Given the description of an element on the screen output the (x, y) to click on. 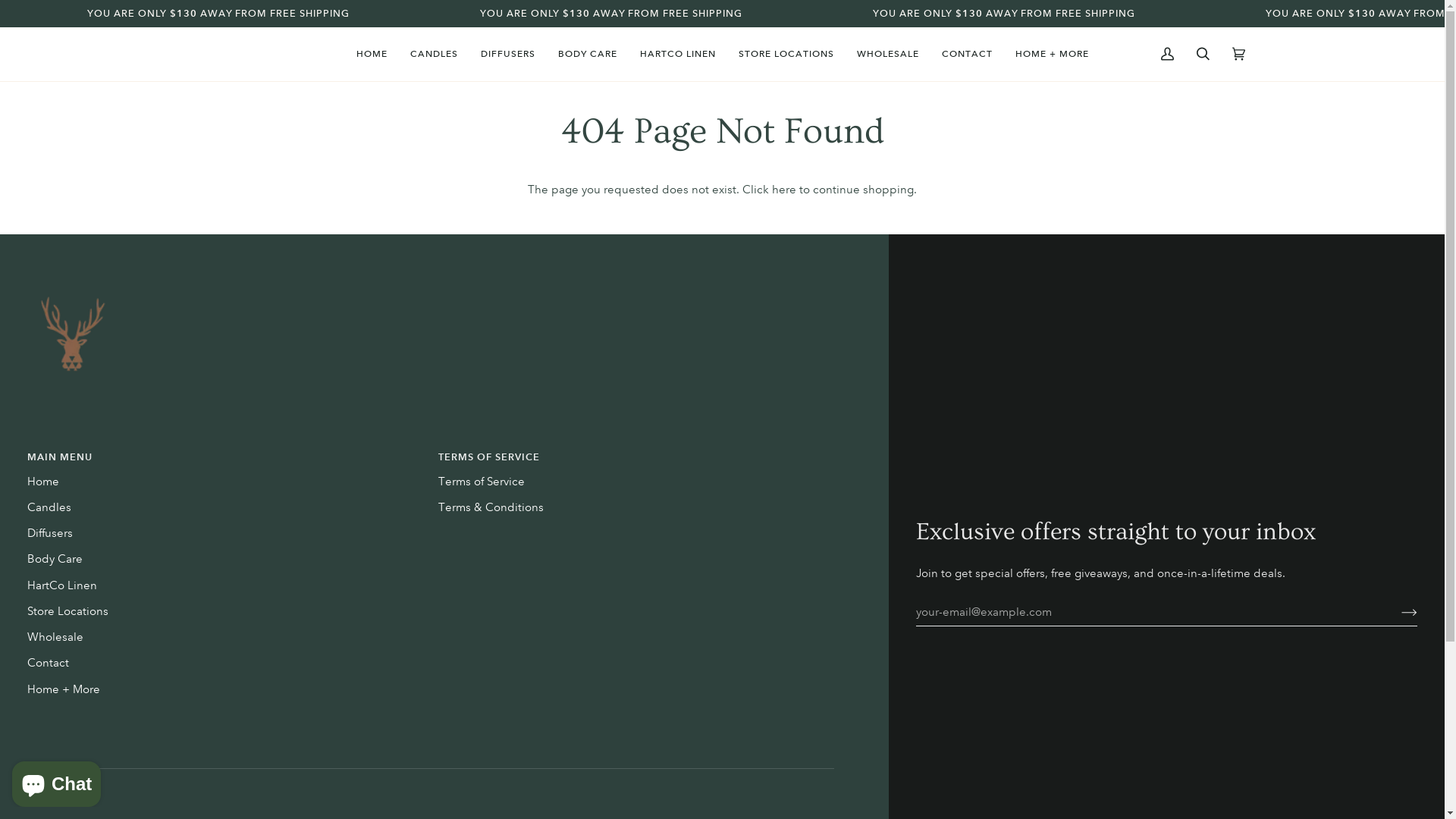
Body Care Element type: text (54, 558)
Candles Element type: text (49, 507)
MY ACCOUNT Element type: text (1167, 54)
Home + More Element type: text (63, 689)
here Element type: text (783, 189)
HOME Element type: text (371, 54)
SEARCH Element type: text (1202, 54)
CONTACT Element type: text (966, 54)
Wholesale Element type: text (55, 636)
HartCo Linen Element type: text (62, 585)
Home Element type: text (43, 481)
HOME + MORE Element type: text (1052, 54)
STORE LOCATIONS Element type: text (785, 54)
Diffusers Element type: text (49, 532)
WHOLESALE Element type: text (886, 54)
CART
(0) Element type: text (1238, 54)
BODY CARE Element type: text (586, 54)
Shopify online store chat Element type: hover (56, 780)
Terms of Service Element type: text (481, 481)
Store Locations Element type: text (67, 611)
CANDLES Element type: text (433, 54)
Terms & Conditions Element type: text (490, 507)
HARTCO LINEN Element type: text (676, 54)
Contact Element type: text (48, 662)
DIFFUSERS Element type: text (507, 54)
